Given the description of an element on the screen output the (x, y) to click on. 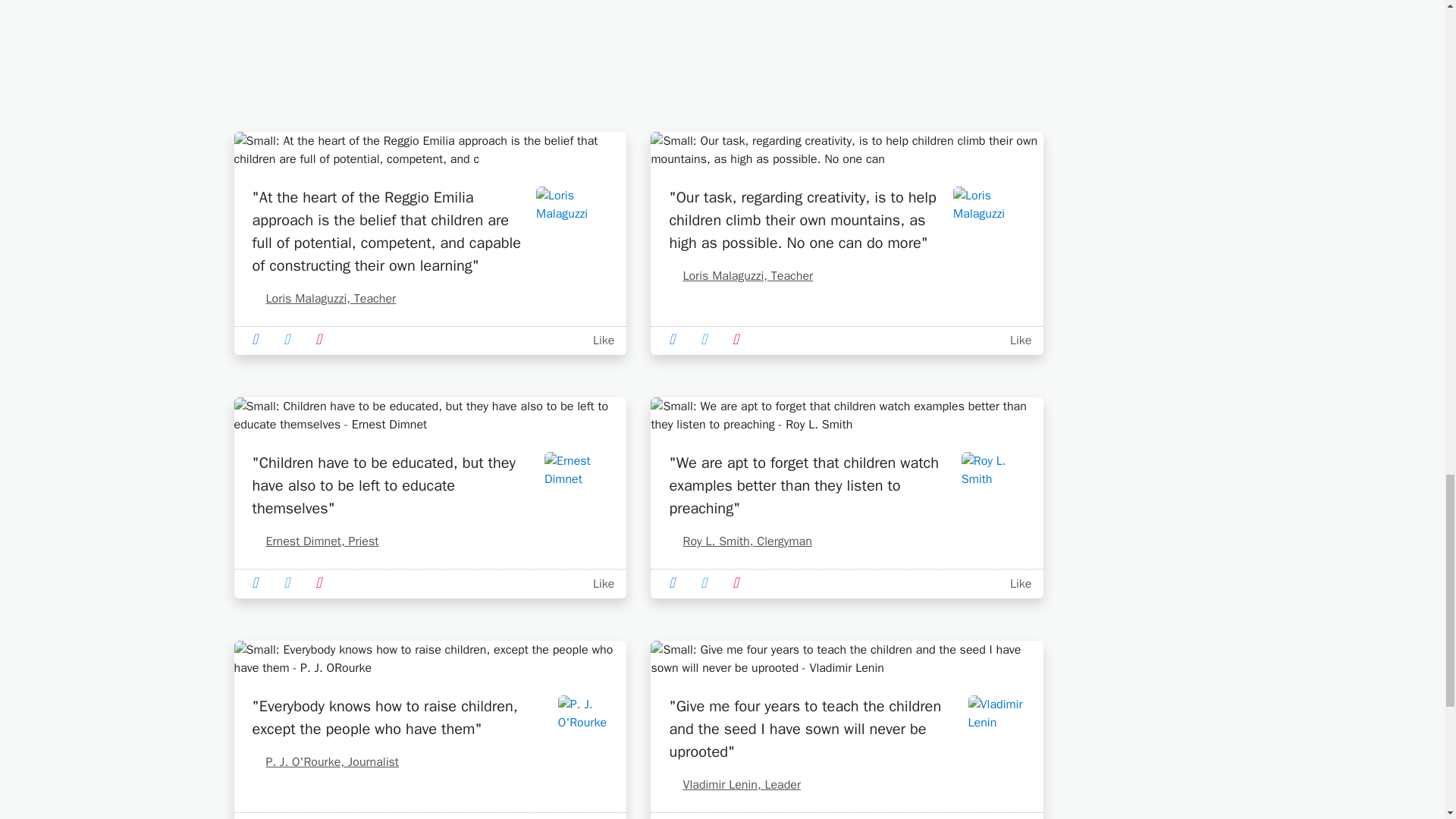
Loris Malaguzzi, Teacher (740, 275)
P. J. O'Rourke, Journalist (324, 761)
Roy L. Smith, Clergyman (739, 540)
Ernest Dimnet, Priest (314, 540)
Loris Malaguzzi, Teacher (323, 298)
Vladimir Lenin, Leader (734, 784)
